Given the description of an element on the screen output the (x, y) to click on. 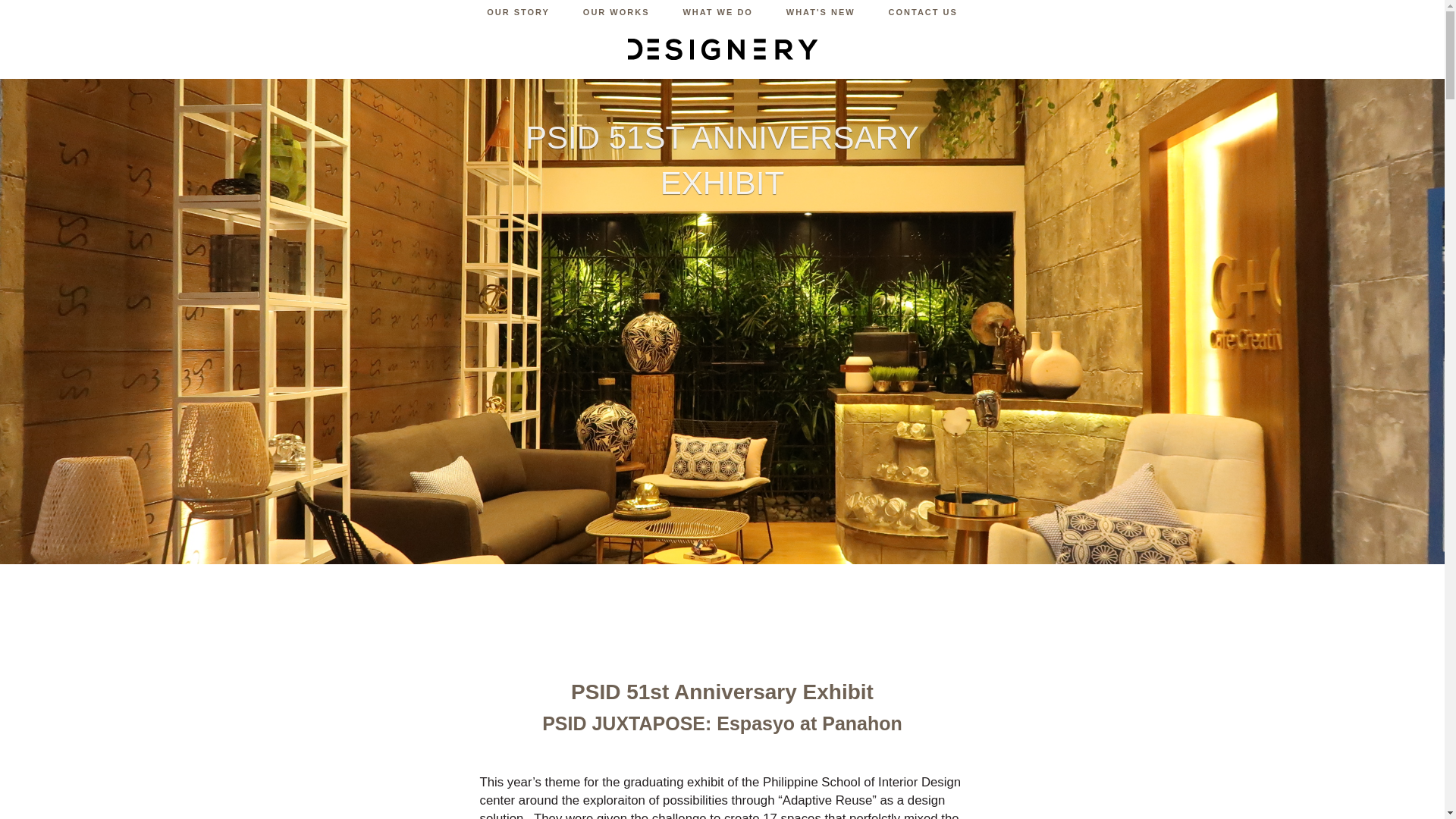
WHAT WE DO (717, 14)
CONTACT US (923, 14)
OUR WORKS (616, 14)
WHAT'S NEW (821, 14)
OUR STORY (518, 14)
